Given the description of an element on the screen output the (x, y) to click on. 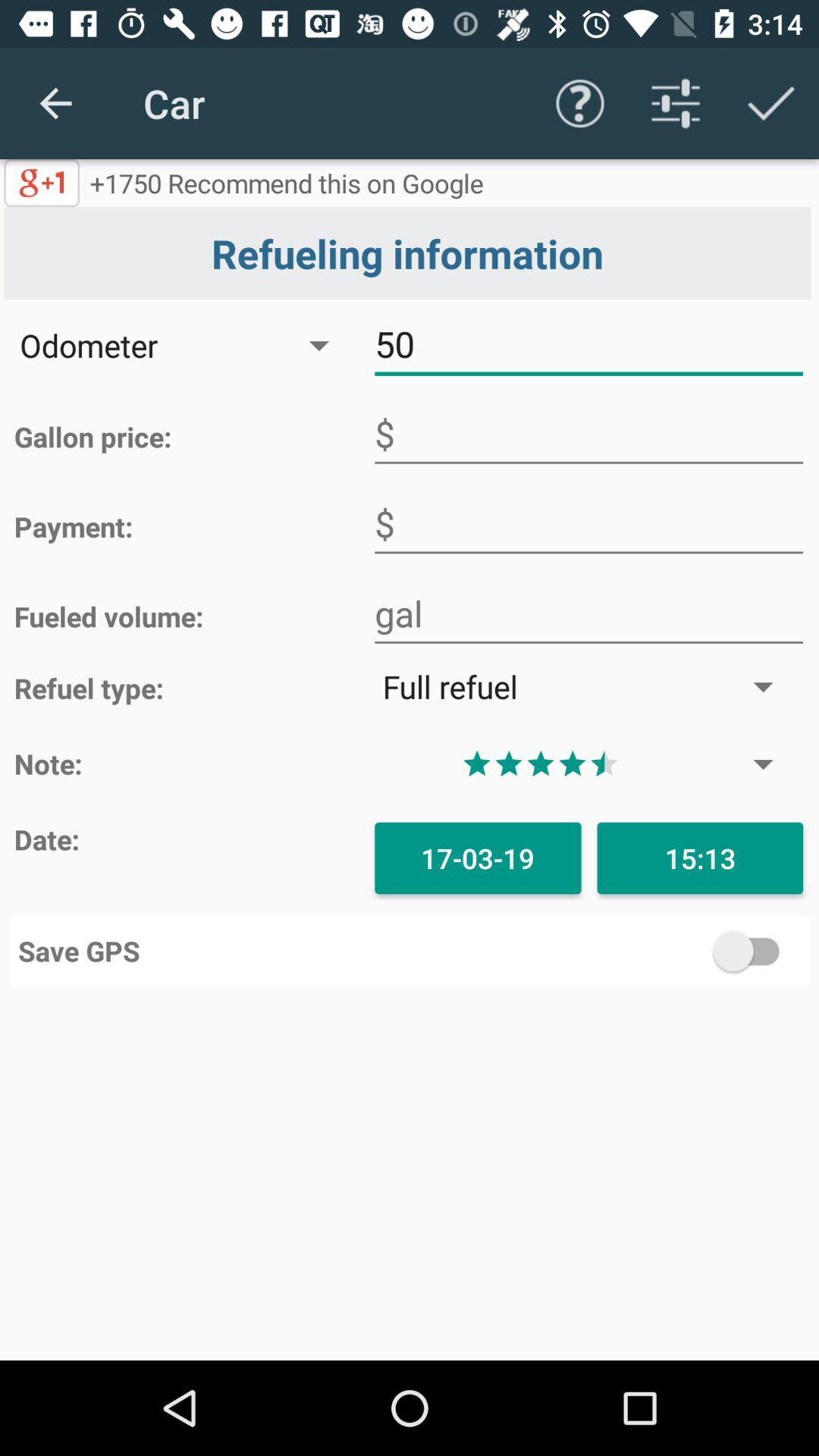
click to save (604, 951)
